Given the description of an element on the screen output the (x, y) to click on. 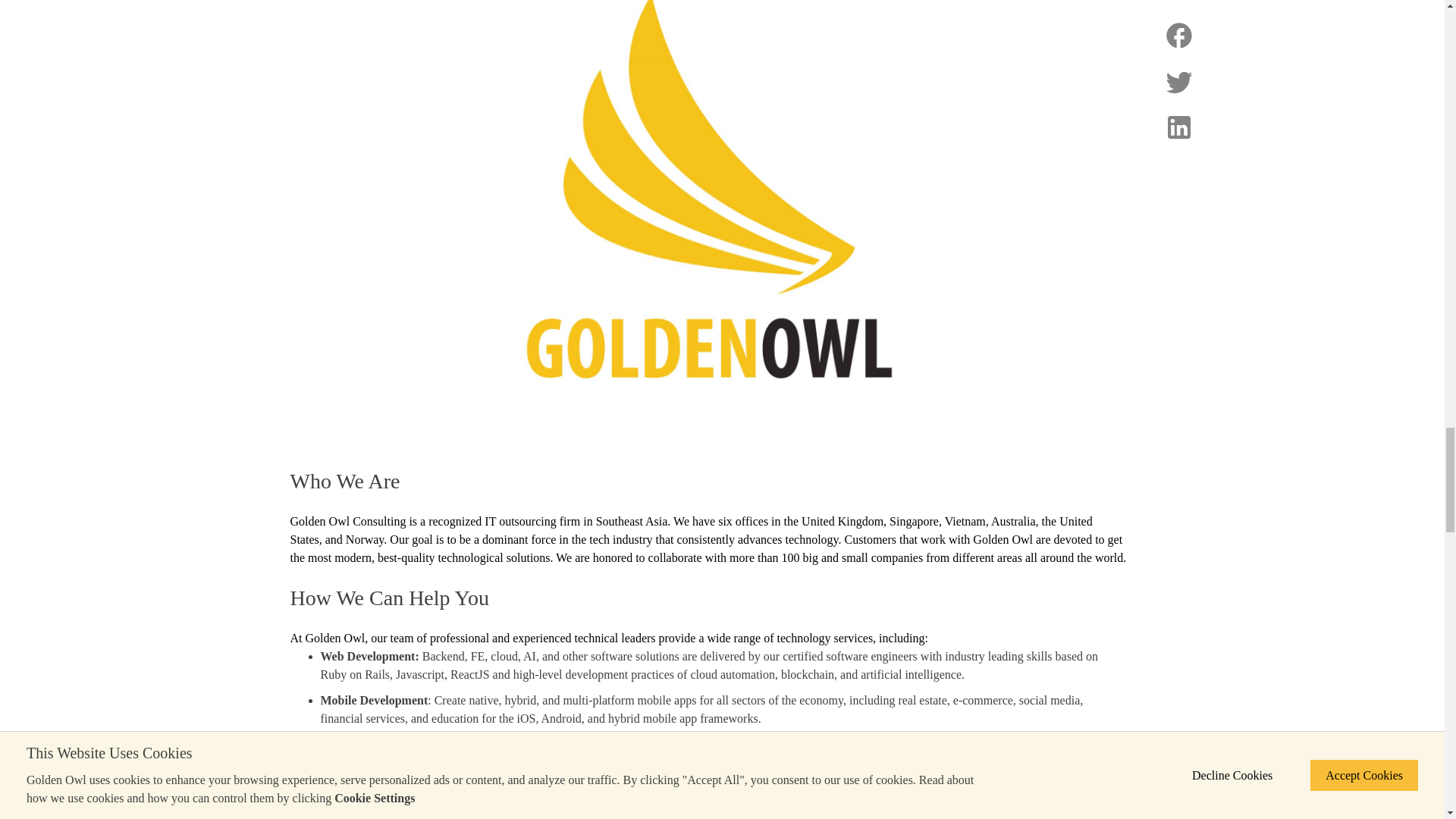
managed IT services (725, 788)
